Given the description of an element on the screen output the (x, y) to click on. 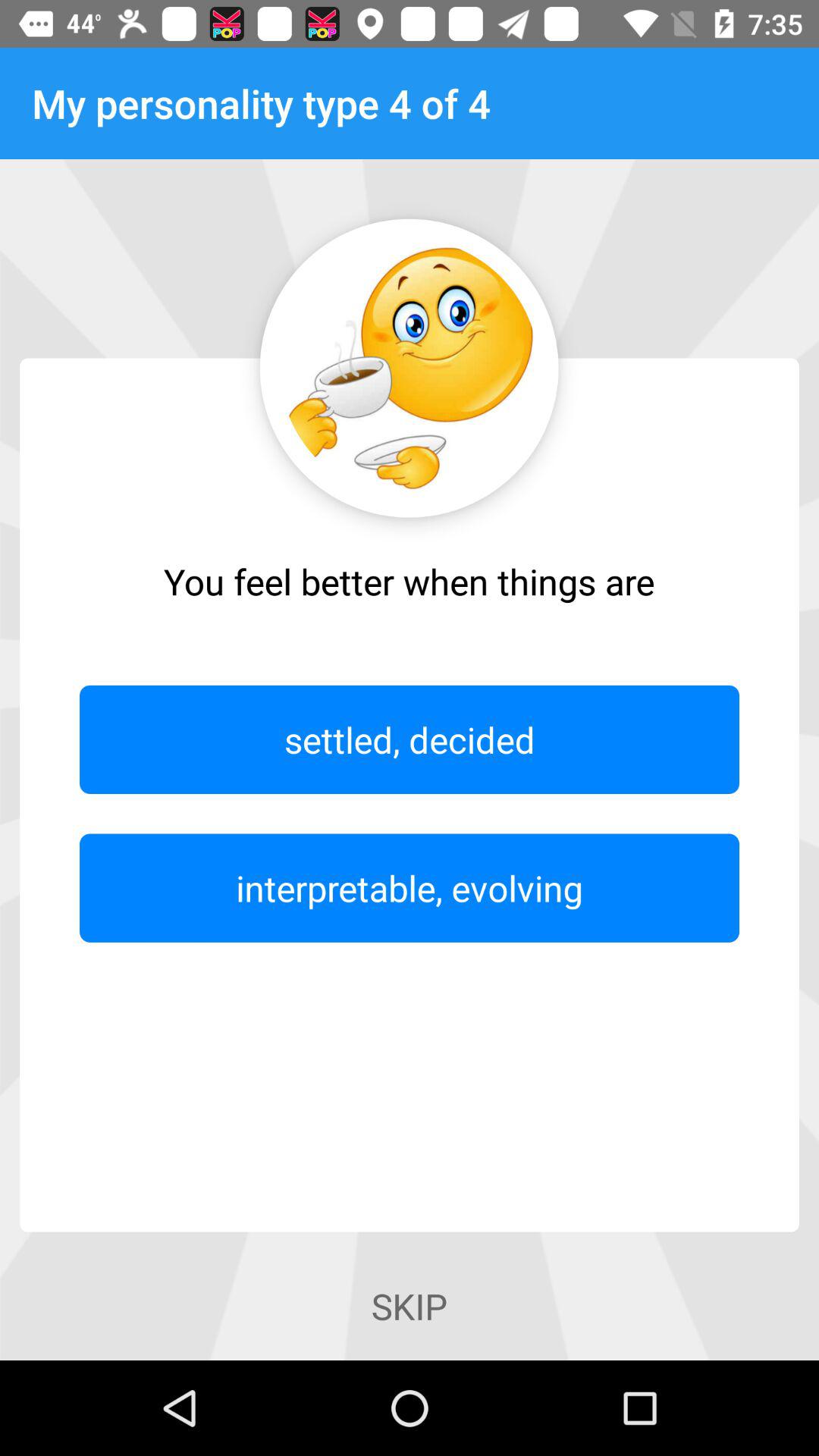
select interpretable, evolving item (409, 887)
